Given the description of an element on the screen output the (x, y) to click on. 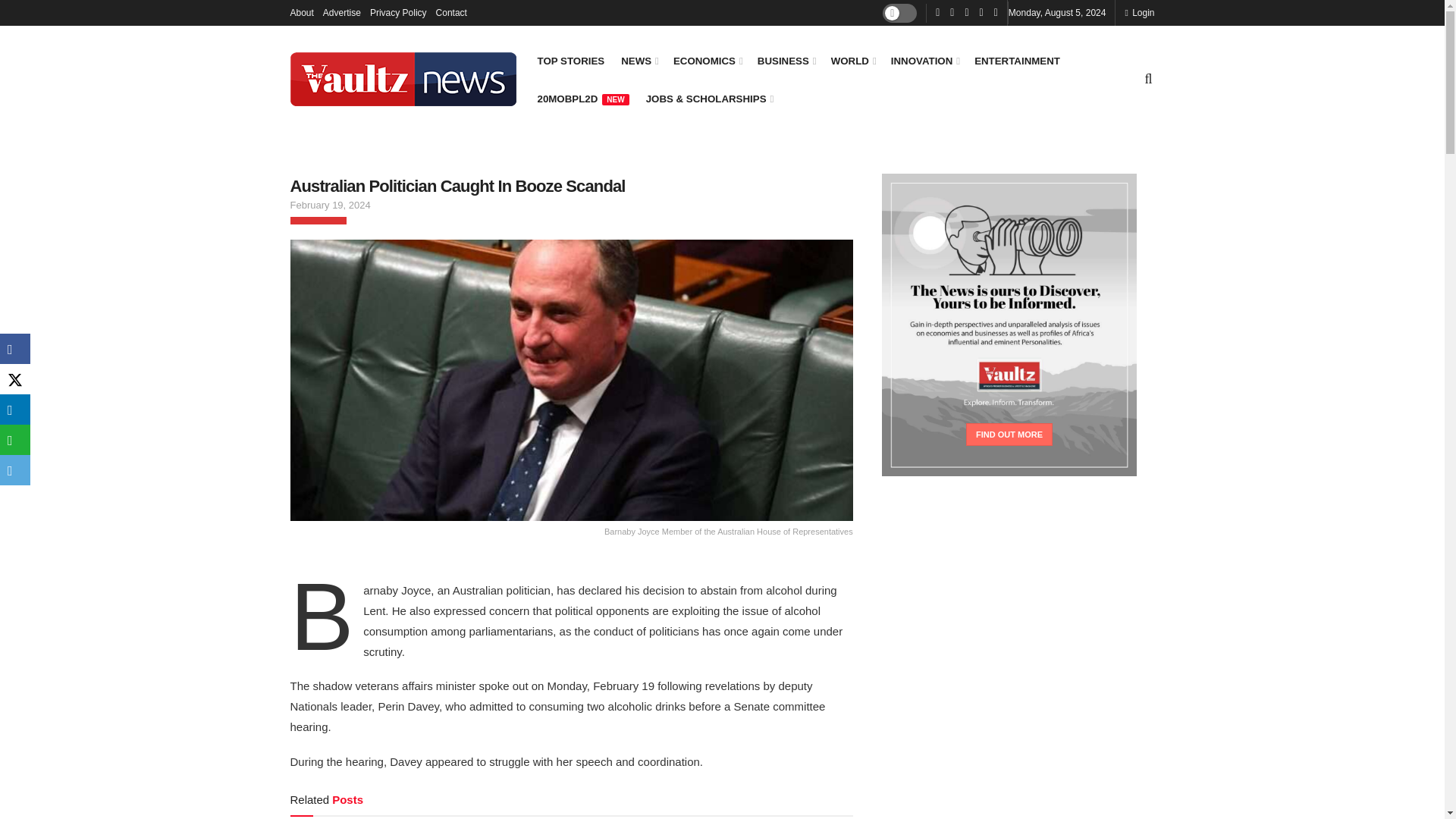
NEWS (638, 60)
Privacy Policy (397, 12)
Login (1139, 12)
ECONOMICS (706, 60)
About (301, 12)
FIND OUT MORE (1009, 434)
TOP STORIES (570, 60)
WORLD (853, 60)
Advertise (342, 12)
